Given the description of an element on the screen output the (x, y) to click on. 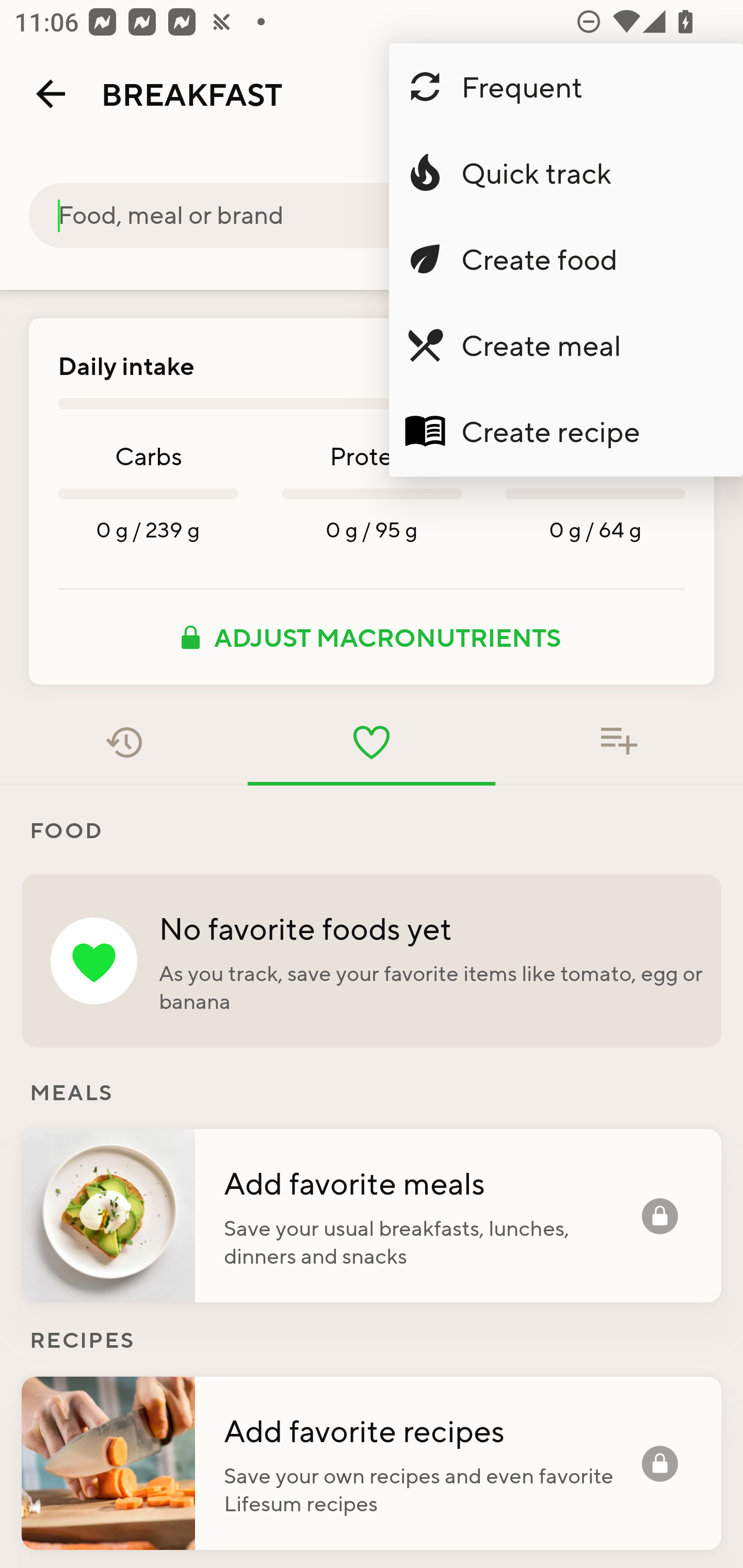
Frequent (566, 86)
Quick track (566, 173)
Create food (566, 259)
Create meal (566, 344)
Create recipe (566, 431)
